Given the description of an element on the screen output the (x, y) to click on. 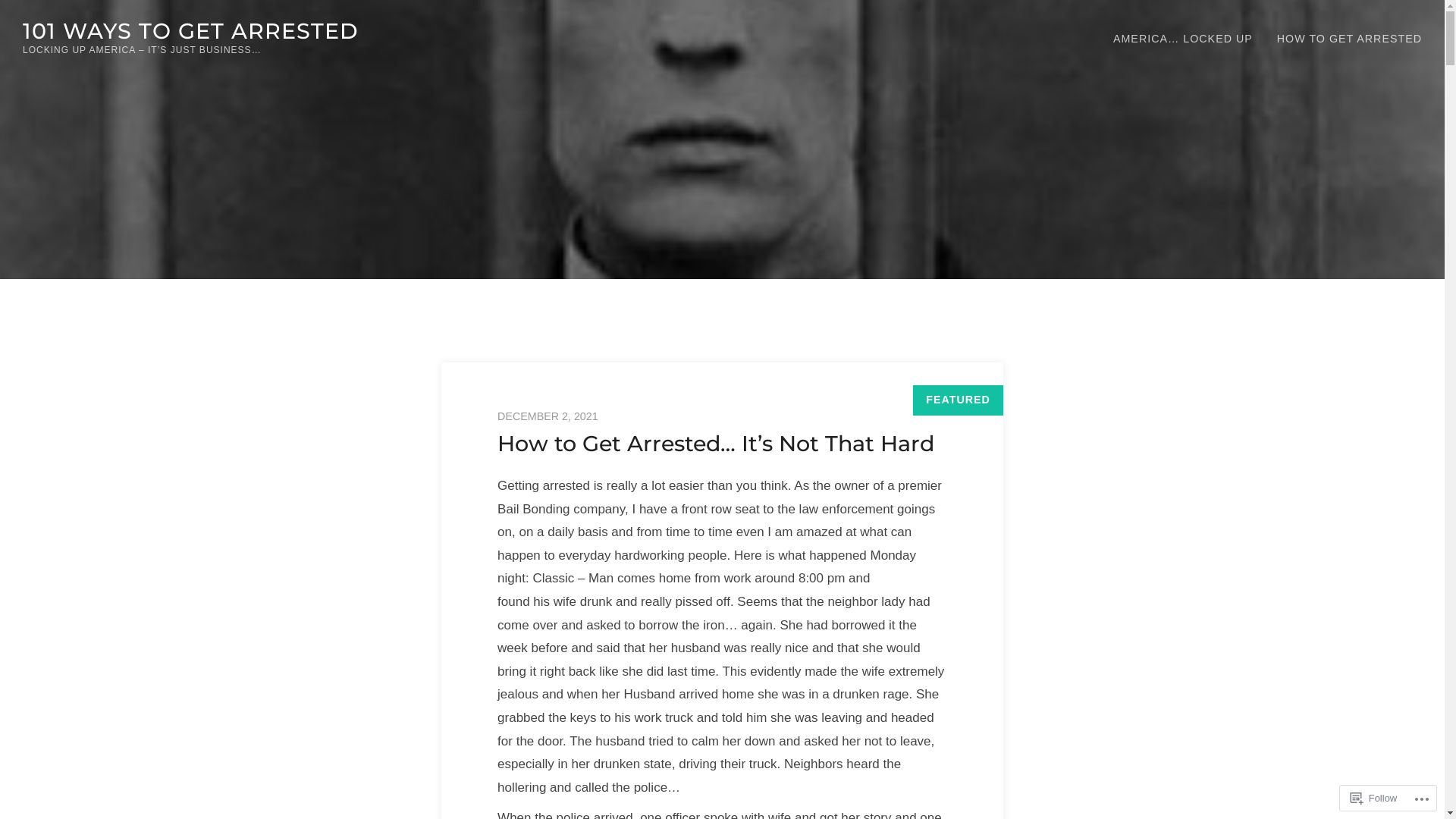
Follow Element type: text (1373, 797)
HOW TO GET ARRESTED Element type: text (1349, 38)
101 WAYS TO GET ARRESTED Element type: text (190, 30)
DECEMBER 2, 2021 Element type: text (722, 416)
